Given the description of an element on the screen output the (x, y) to click on. 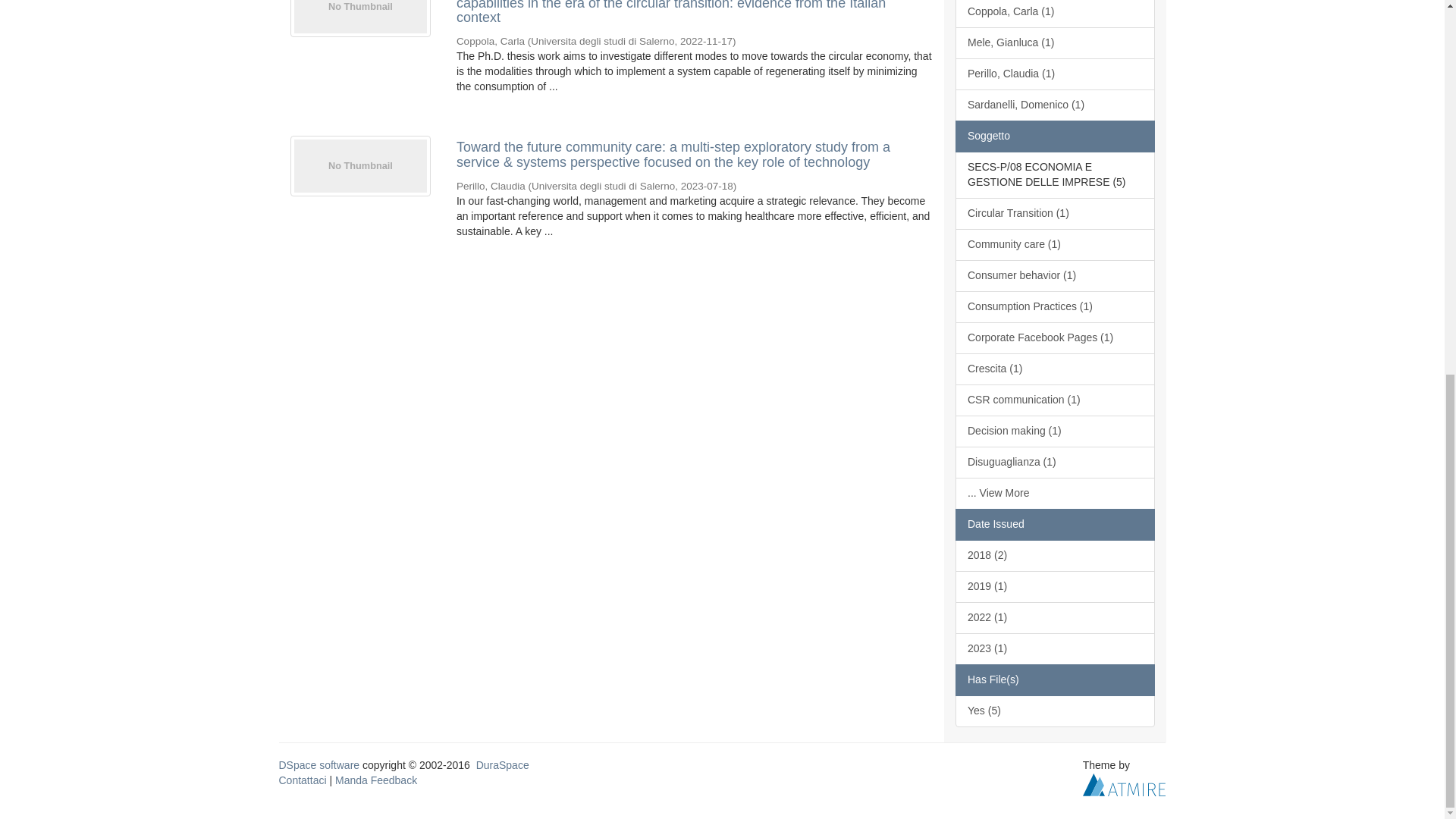
Atmire NV (1124, 784)
